Given the description of an element on the screen output the (x, y) to click on. 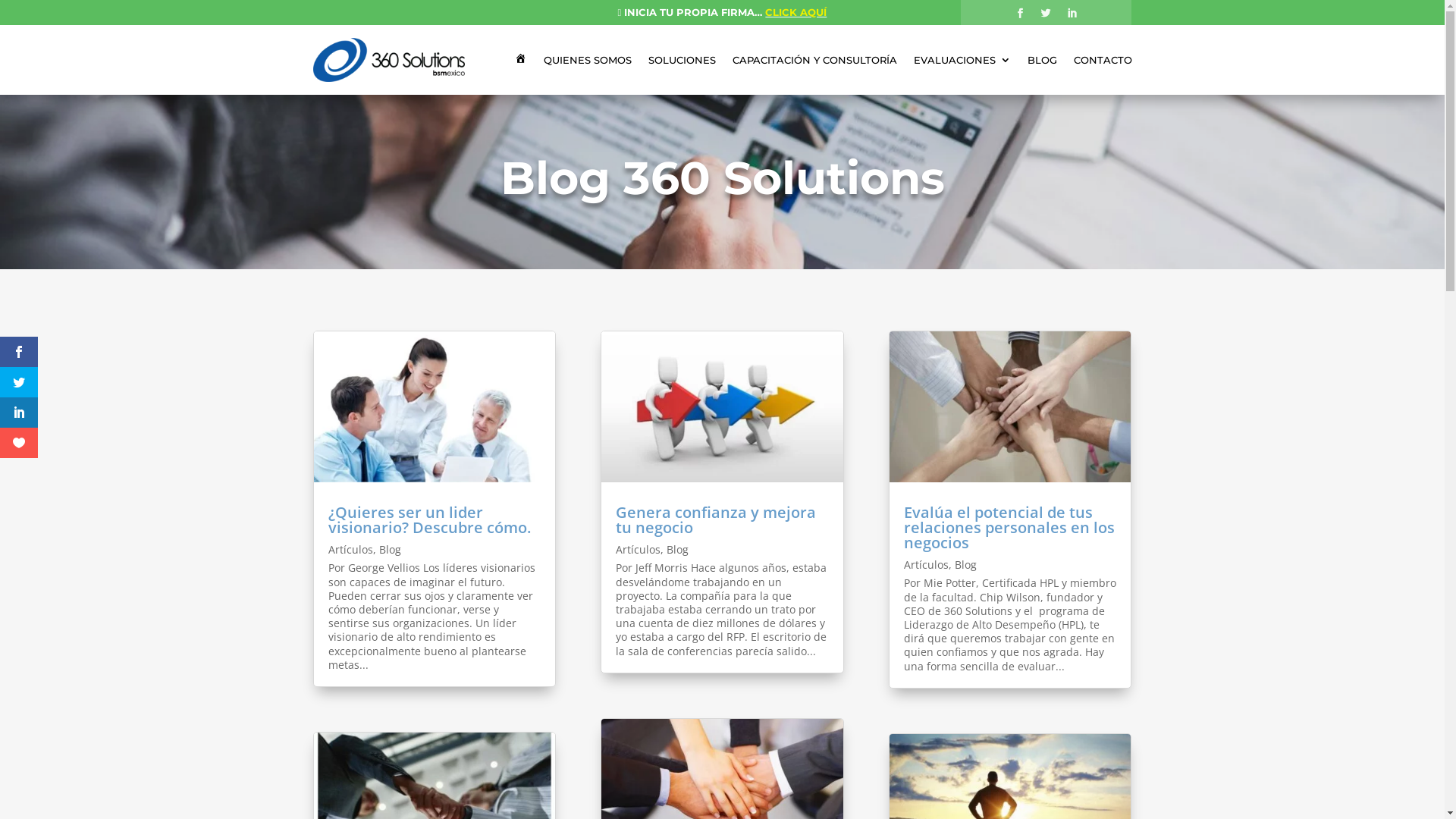
Home Element type: text (520, 59)
Blog Element type: text (677, 549)
Blog Element type: text (390, 549)
CONTACTO Element type: text (1102, 59)
QUIENES SOMOS Element type: text (586, 59)
Seguir en Facebook Element type: hover (1020, 13)
Genera confianza y mejora tu negocio Element type: text (715, 519)
Seguir en Twitter Element type: hover (1046, 13)
SOLUCIONES Element type: text (681, 59)
BLOG Element type: text (1041, 59)
Blog Element type: text (965, 564)
Seguir en LinkedIn Element type: hover (1072, 13)
EVALUACIONES Element type: text (961, 59)
